Given the description of an element on the screen output the (x, y) to click on. 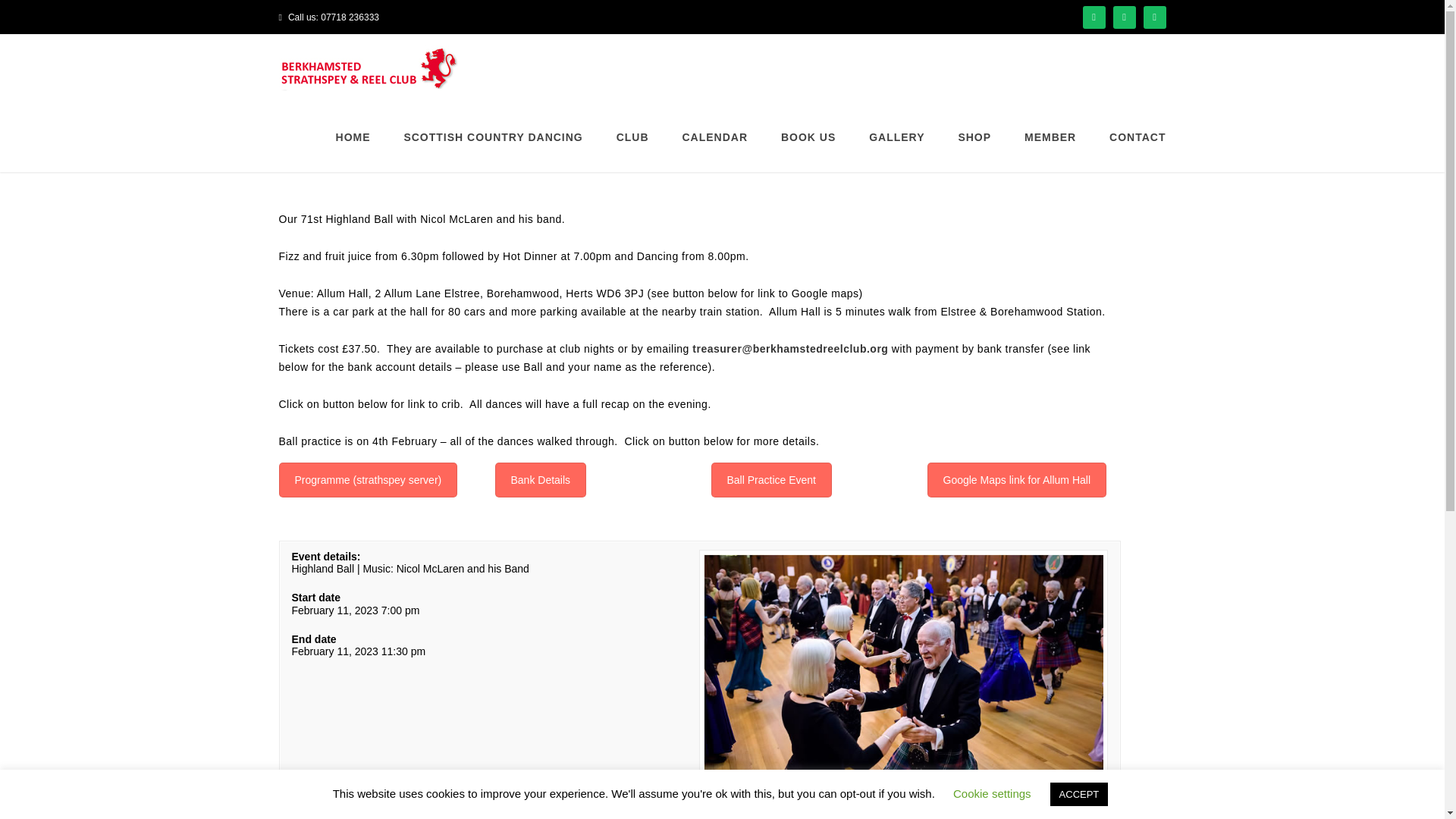
Ball Practice Event (771, 479)
Search (1144, 126)
CONTACT (1130, 136)
GALLERY (896, 136)
SCOTTISH COUNTRY DANCING (492, 136)
Google Maps link for Allum Hall (1016, 479)
YouTube (1124, 16)
CLUB (632, 136)
MEMBER (1049, 136)
Facebook (1094, 16)
SHOP (974, 136)
Bank Details (540, 479)
HOME (352, 136)
CALENDAR (714, 136)
Flickr (1154, 16)
